Given the description of an element on the screen output the (x, y) to click on. 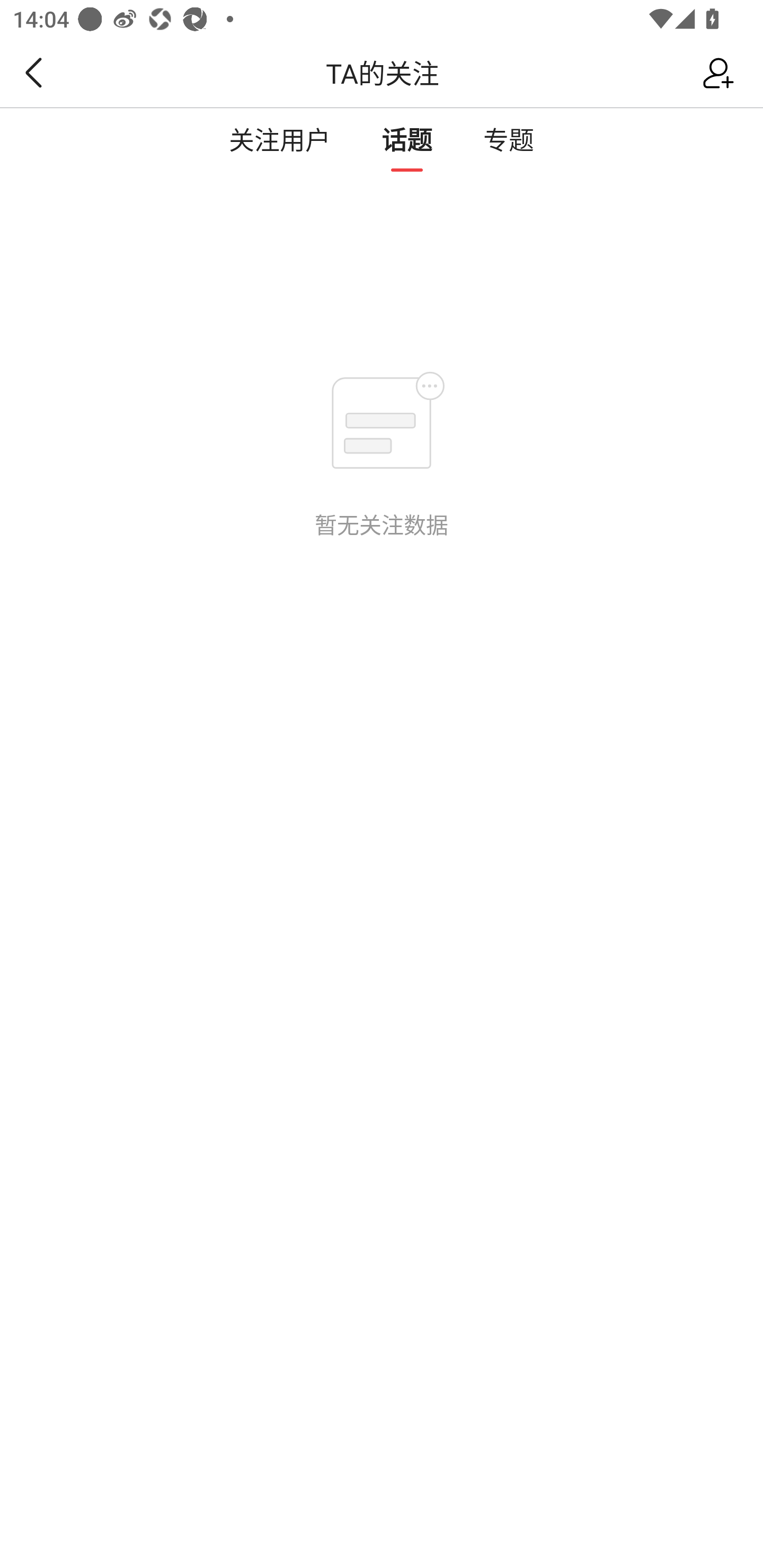
返回 (27, 72)
添加关注 (722, 72)
关注用户 (279, 139)
话题 (406, 139)
专题 (508, 139)
